Given the description of an element on the screen output the (x, y) to click on. 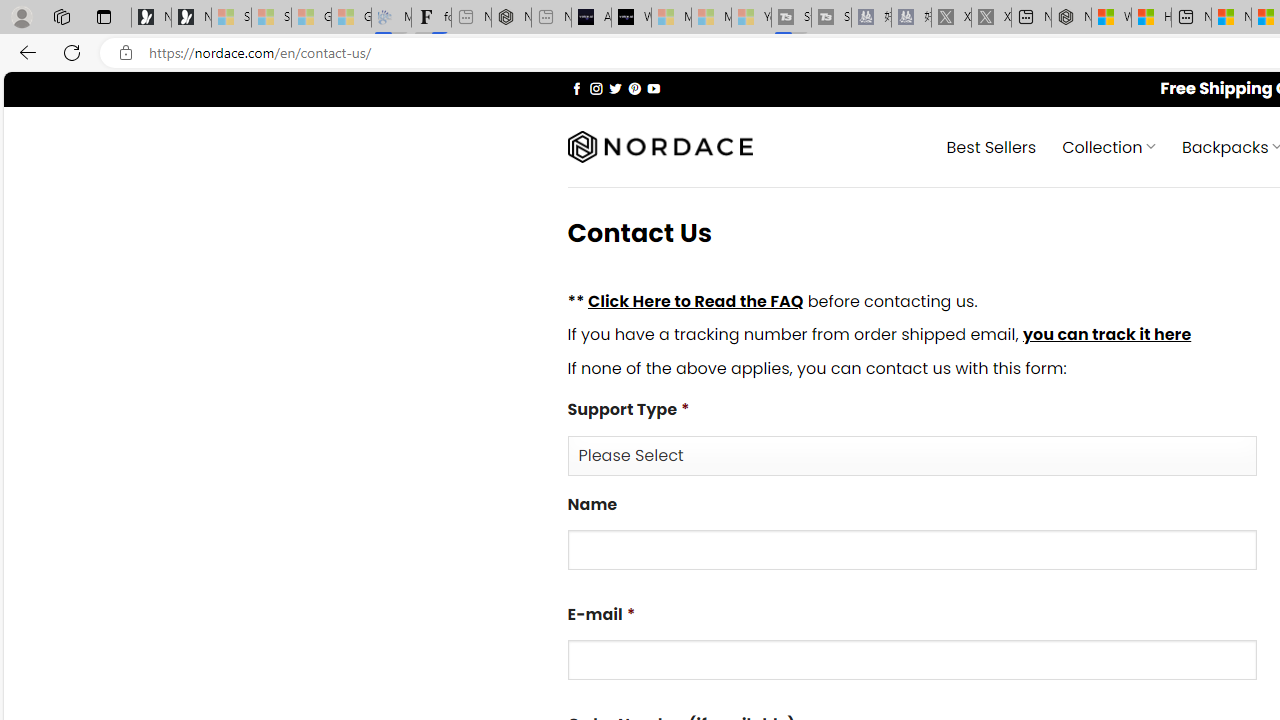
Support Type* (911, 454)
Nordace - My Account (1071, 17)
  Best Sellers (990, 146)
